Given the description of an element on the screen output the (x, y) to click on. 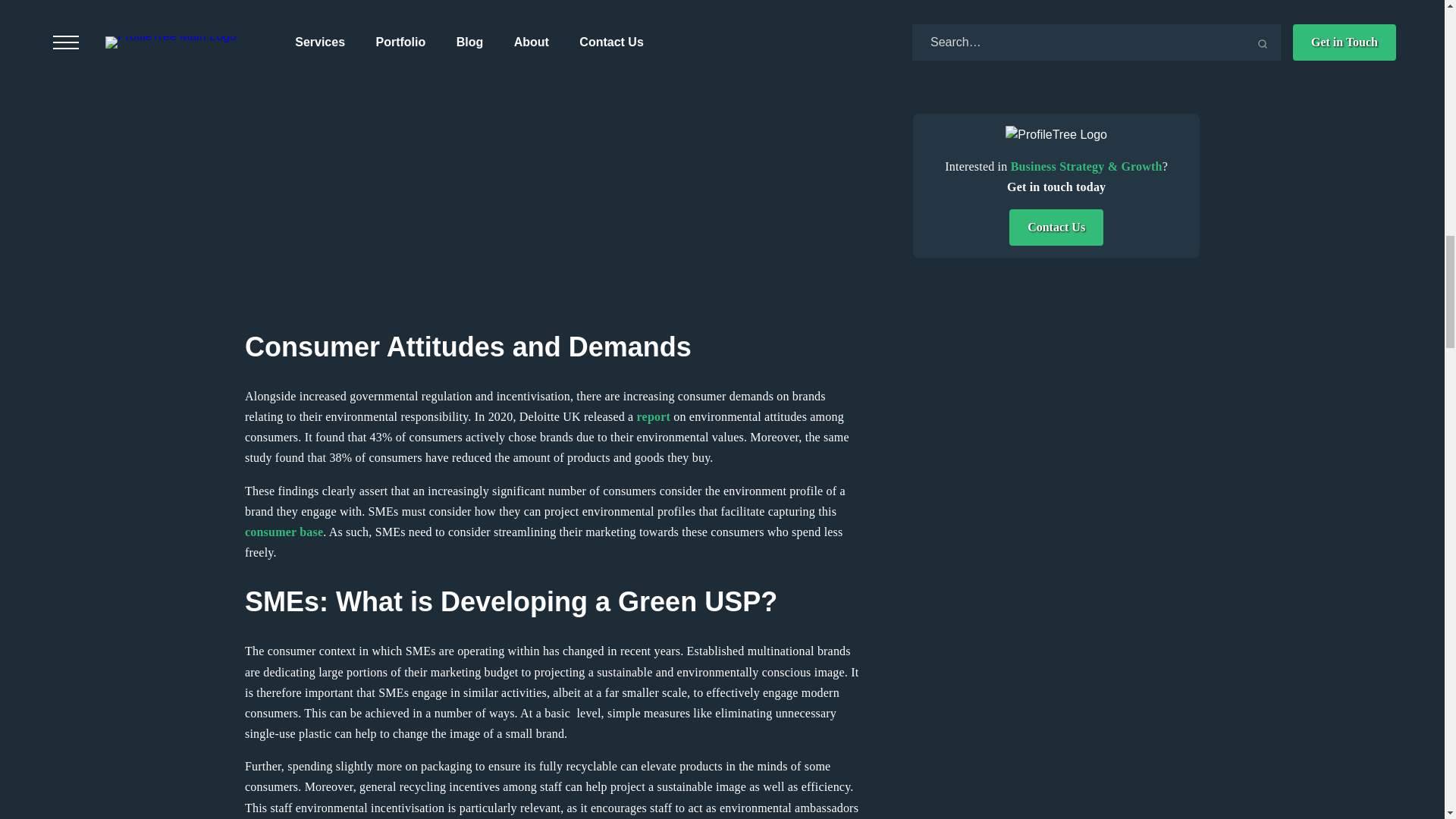
report (653, 416)
r base (307, 531)
consum (264, 531)
